Given the description of an element on the screen output the (x, y) to click on. 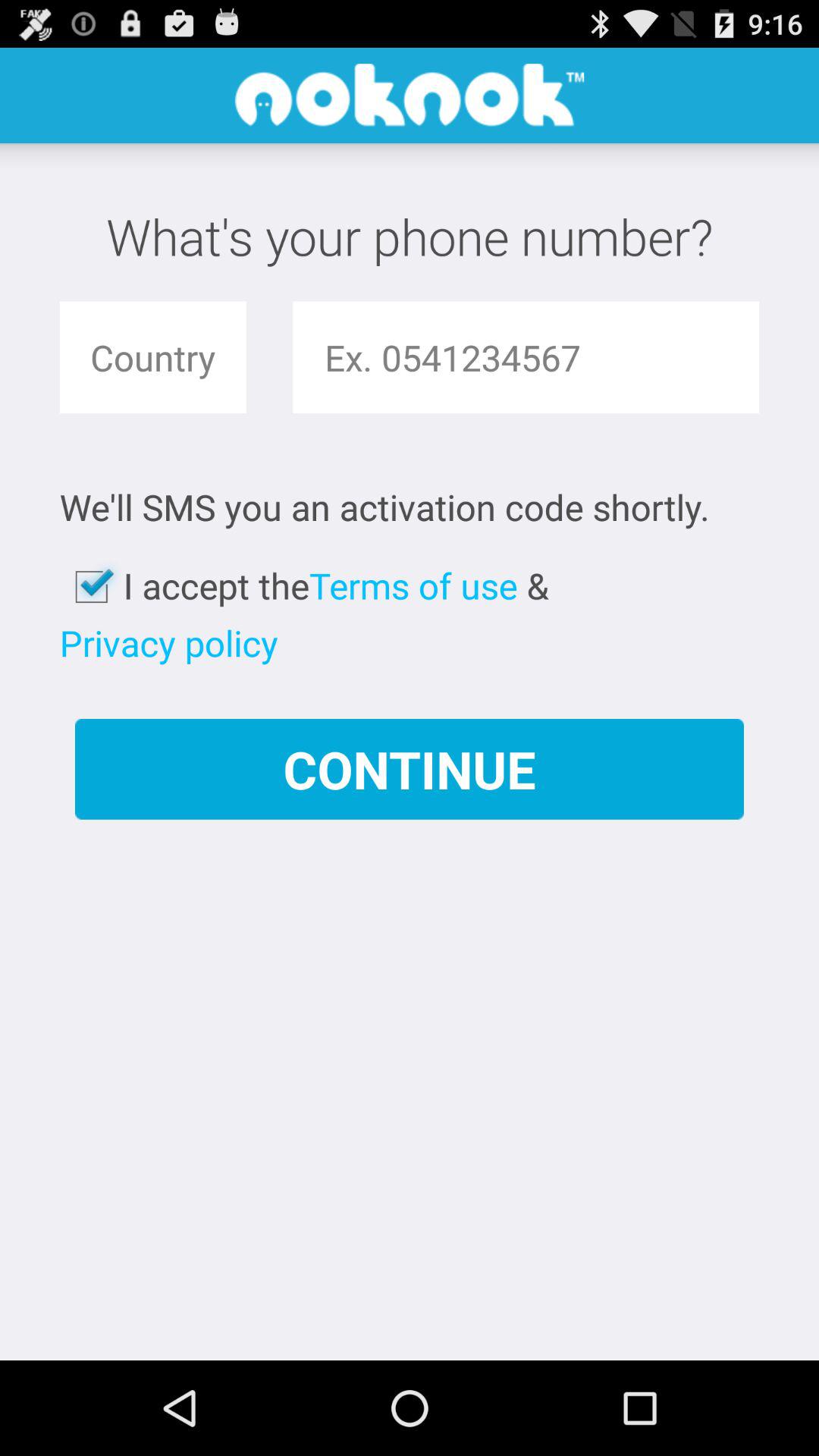
choose the item next to the terms of use item (168, 642)
